Given the description of an element on the screen output the (x, y) to click on. 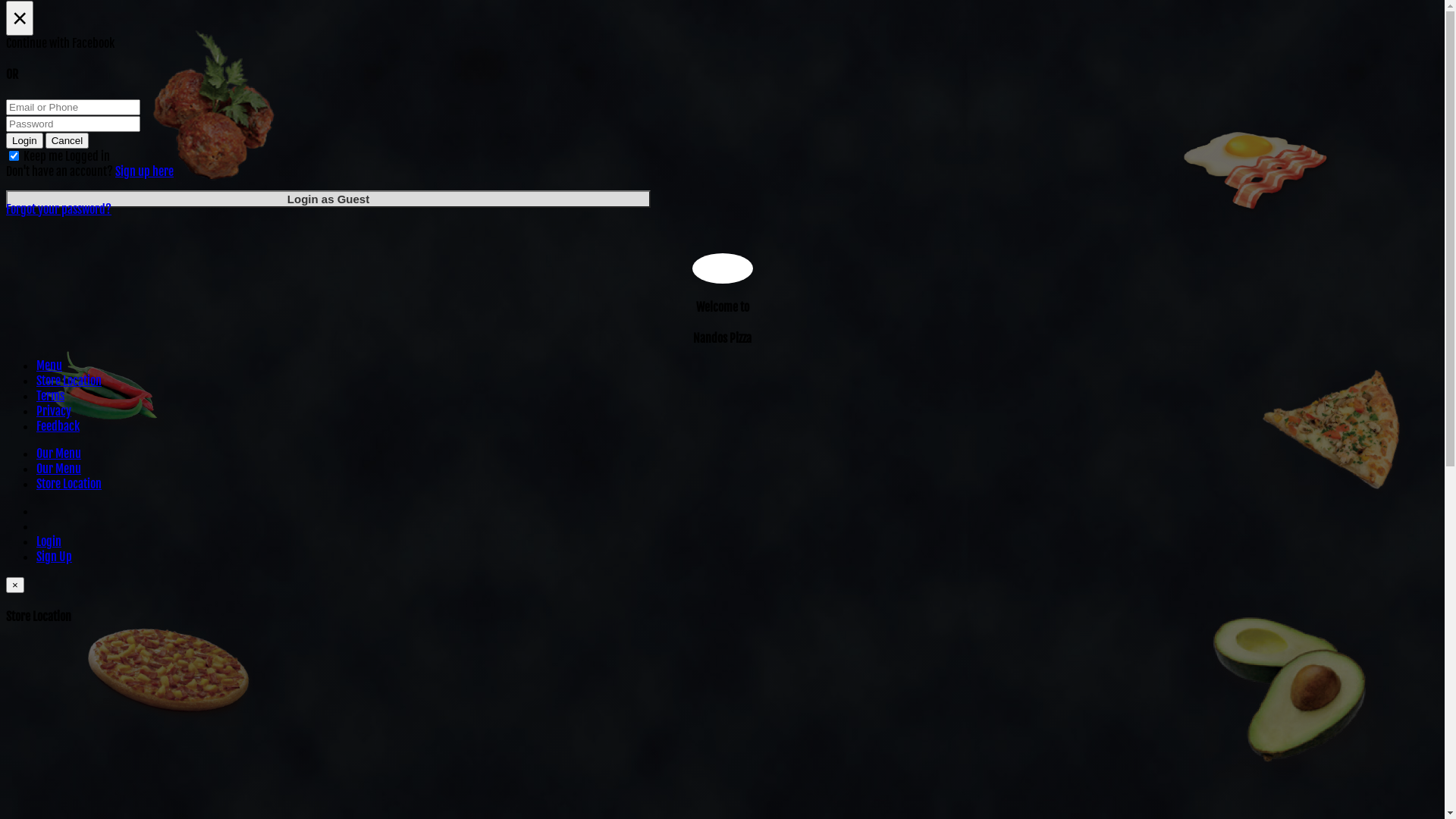
Feedback Element type: text (57, 425)
Login Element type: text (48, 541)
Store Location Element type: text (68, 483)
Login Element type: text (24, 140)
Sign up here Element type: text (144, 170)
Login as Guest Element type: text (328, 198)
Store Location Element type: text (68, 380)
Sign Up Element type: text (54, 556)
Privacy Element type: text (53, 410)
Login as Guest Element type: text (328, 198)
Continue with Facebook Element type: text (722, 42)
Terms Element type: text (50, 395)
Forgot your password? Element type: text (58, 208)
Cancel Element type: text (67, 140)
Our Menu Element type: text (58, 453)
Our Menu Element type: text (58, 468)
Menu Element type: text (49, 365)
